Given the description of an element on the screen output the (x, y) to click on. 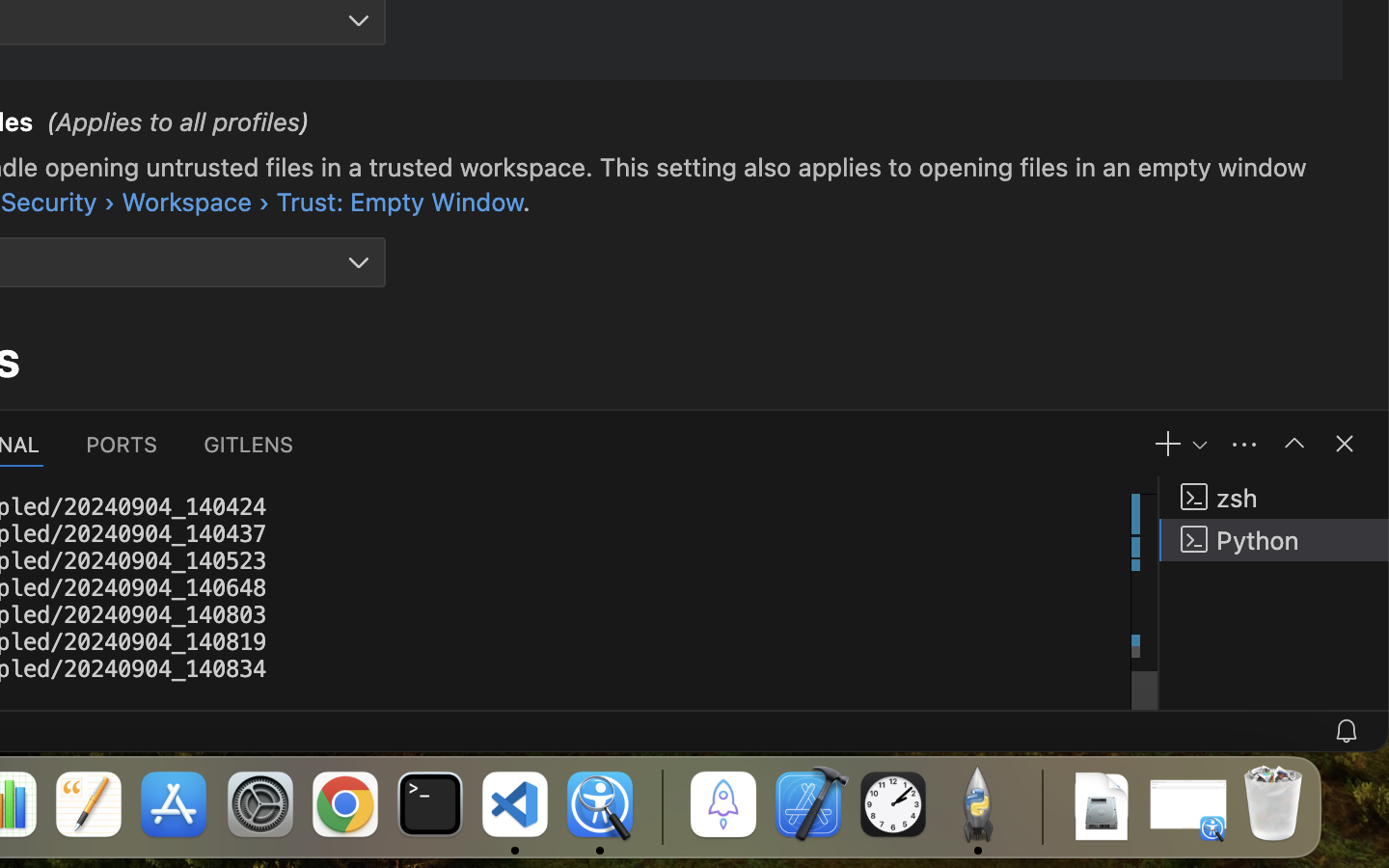
zsh  Element type: AXGroup (1274, 497)
0 PORTS Element type: AXRadioButton (122, 443)
 Element type: AXButton (1344, 443)
Python  Element type: AXGroup (1274, 539)
